Given the description of an element on the screen output the (x, y) to click on. 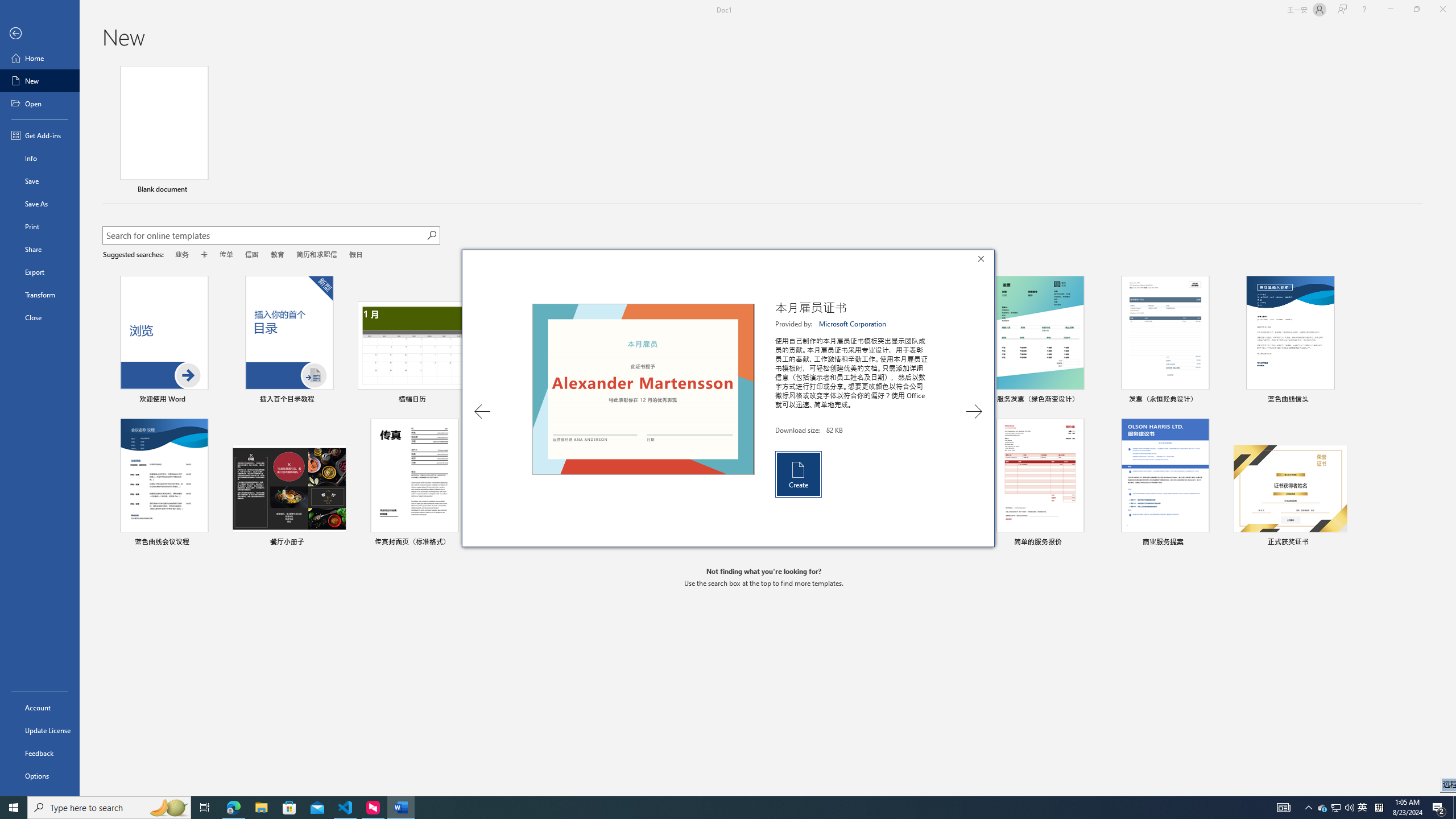
Pin to list (1339, 543)
Task View (204, 807)
Microsoft Edge - 1 running window (233, 807)
Info (40, 157)
Show desktop (1454, 807)
Word - 1 running window (400, 807)
